Given the description of an element on the screen output the (x, y) to click on. 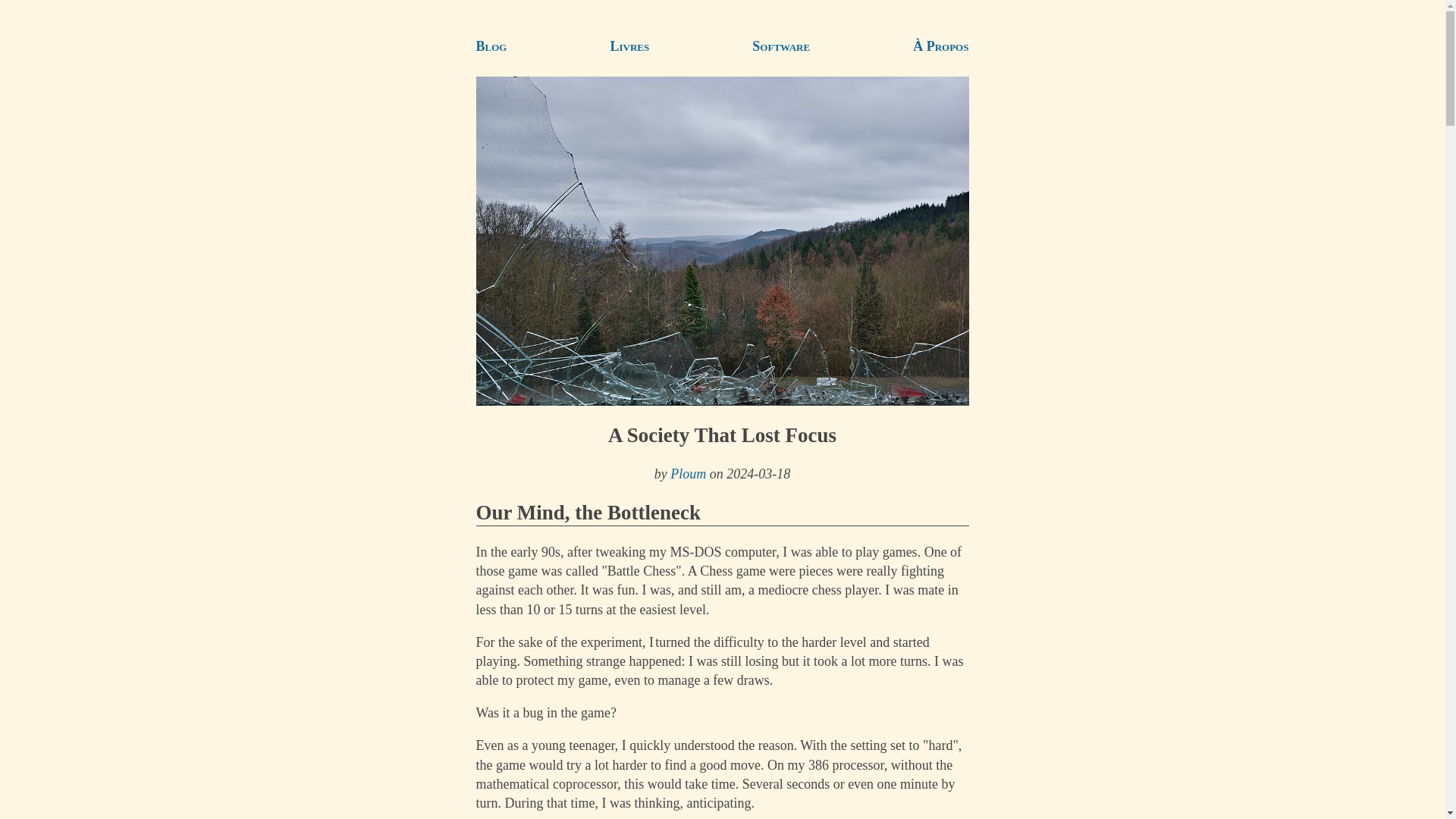
Blog (491, 46)
